Given the description of an element on the screen output the (x, y) to click on. 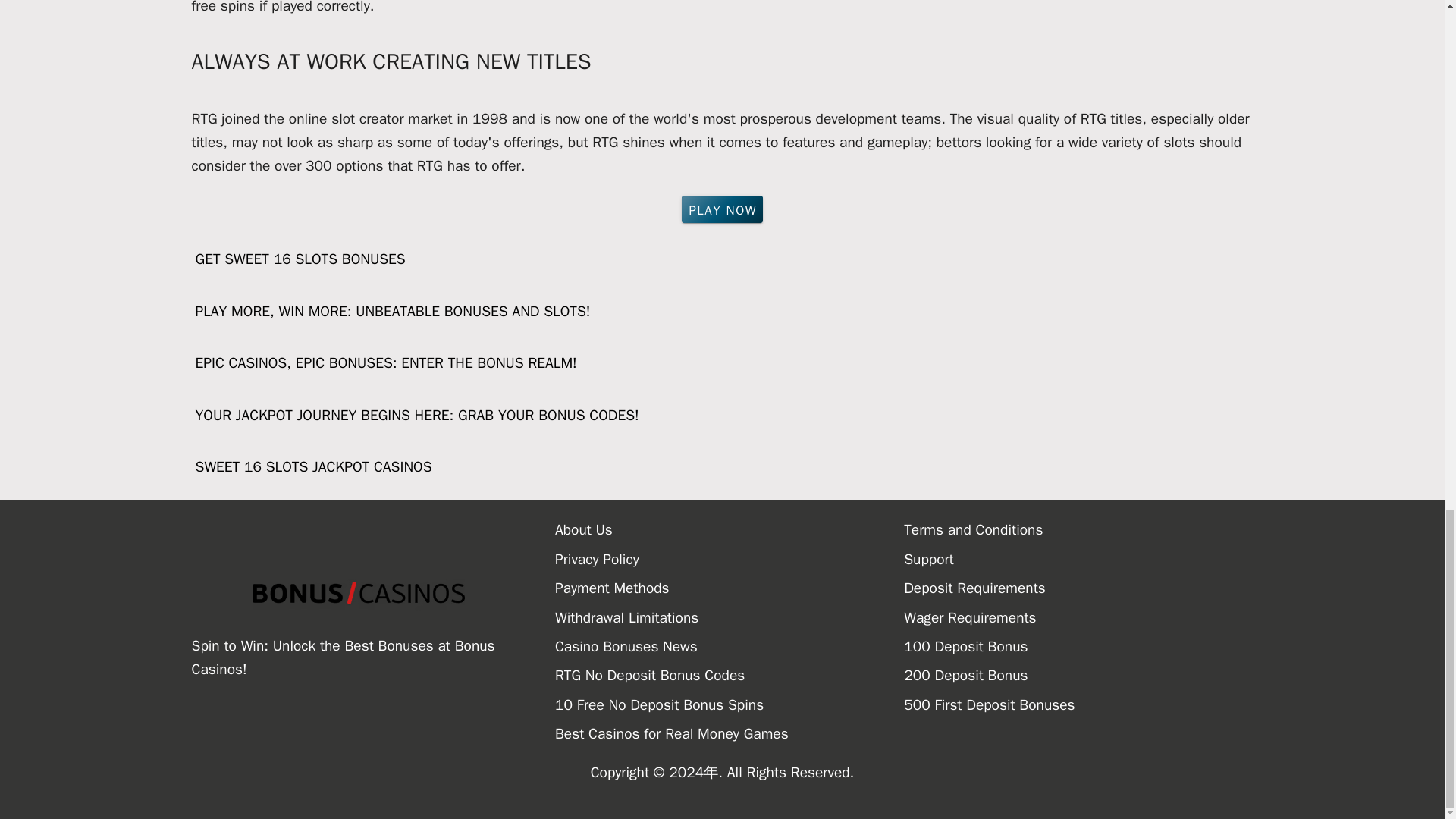
Support (1078, 559)
Casino Bonuses News (729, 646)
500 First Deposit Bonuses (1078, 705)
Deposit Requirements (1078, 588)
10 Free No Deposit Bonus Spins (729, 705)
About Us (729, 529)
RTG No Deposit Bonus Codes (729, 675)
200 Deposit Bonus (1078, 675)
Withdrawal Limitations (729, 617)
Payment Methods (729, 588)
